Given the description of an element on the screen output the (x, y) to click on. 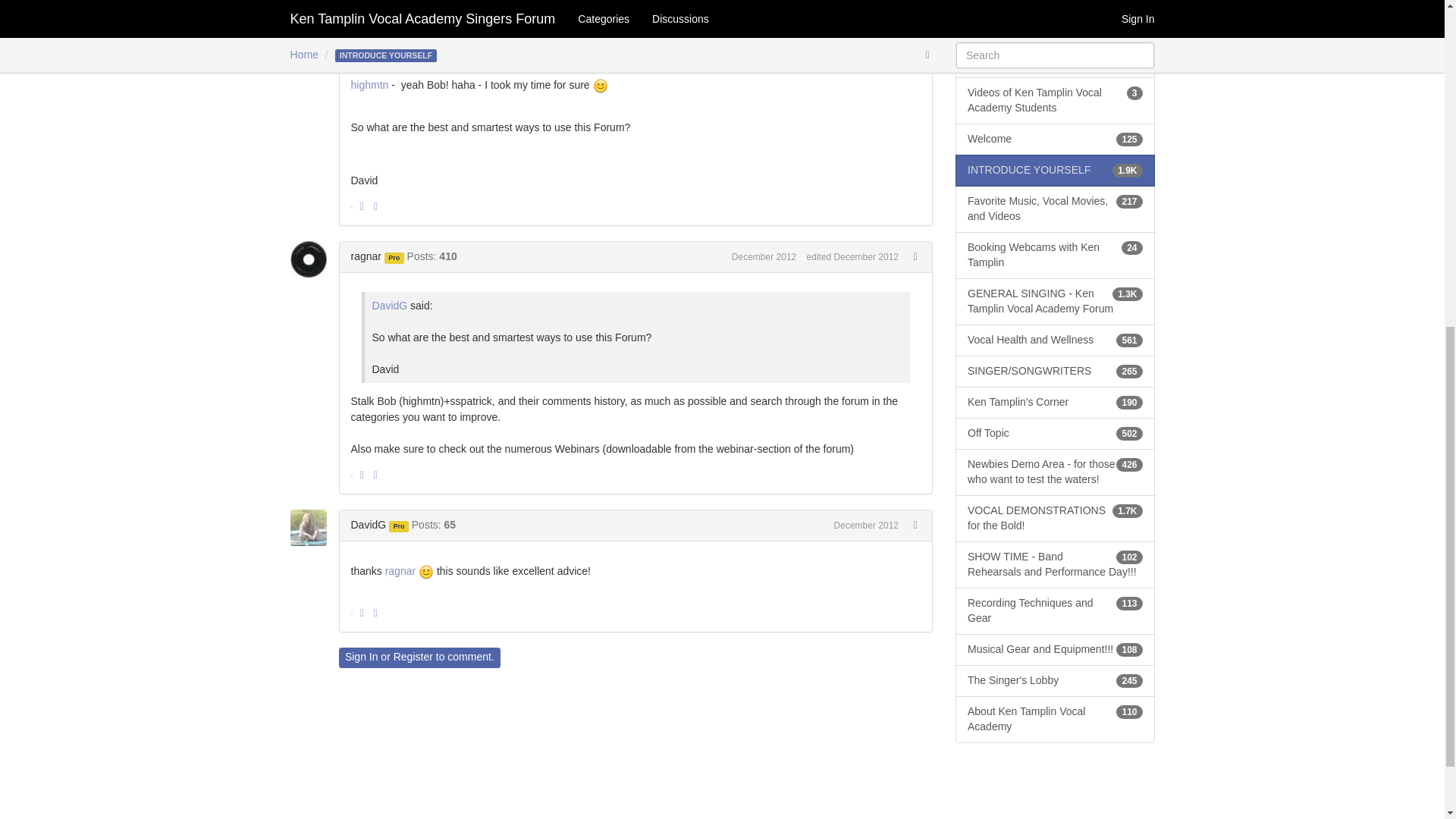
highmtn (369, 84)
DavidG (367, 38)
December 29, 2012 2:56PM (764, 256)
DavidG (311, 41)
Edited December 29, 2012 5:07PM by ragnar. (852, 256)
December 29, 2012 10:53PM (866, 525)
ragnar (311, 258)
December 2012 (866, 39)
ragnar (365, 256)
DavidG (311, 527)
December 29, 2012 12:18PM (866, 39)
